Given the description of an element on the screen output the (x, y) to click on. 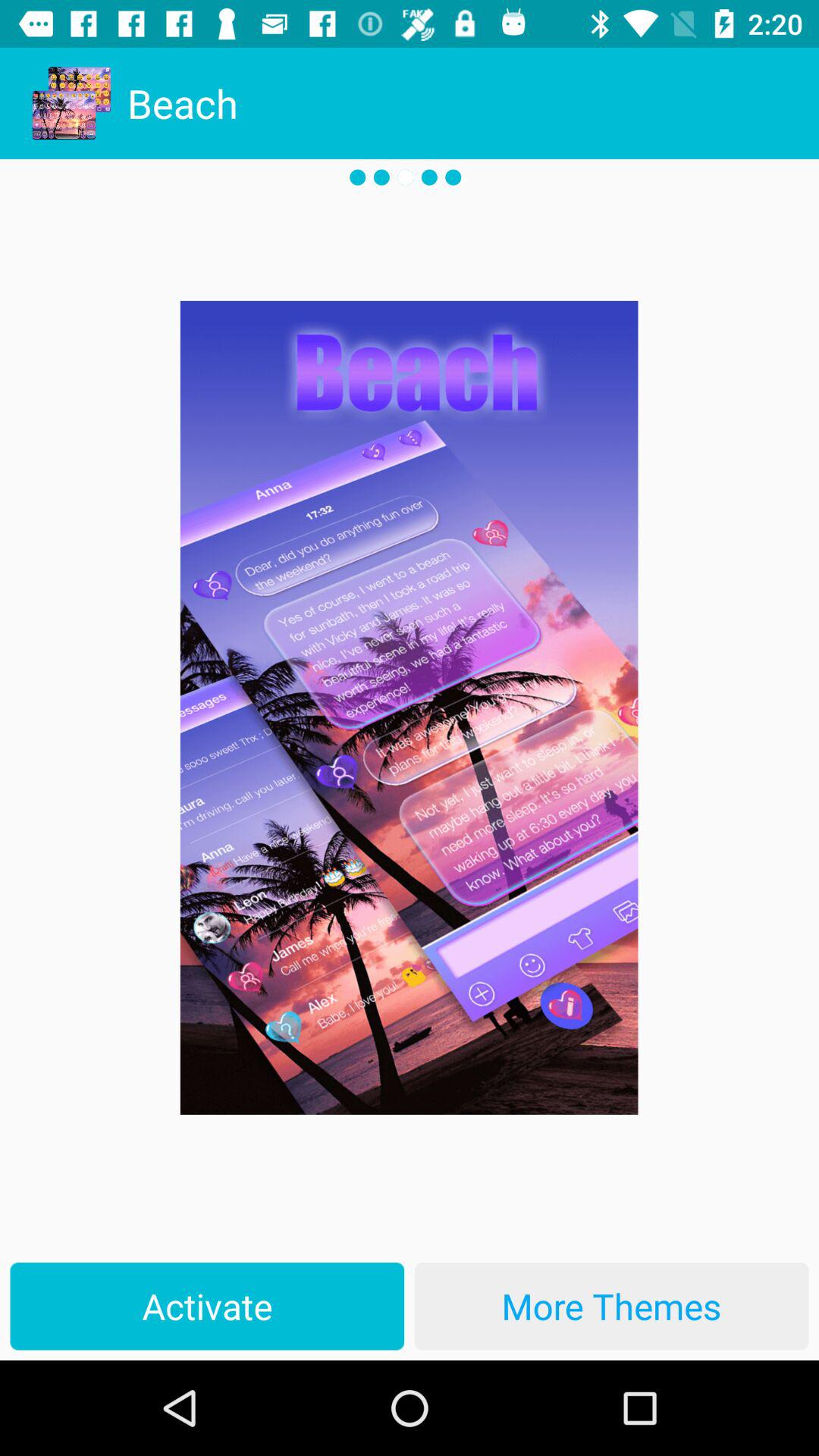
flip to activate item (207, 1306)
